Given the description of an element on the screen output the (x, y) to click on. 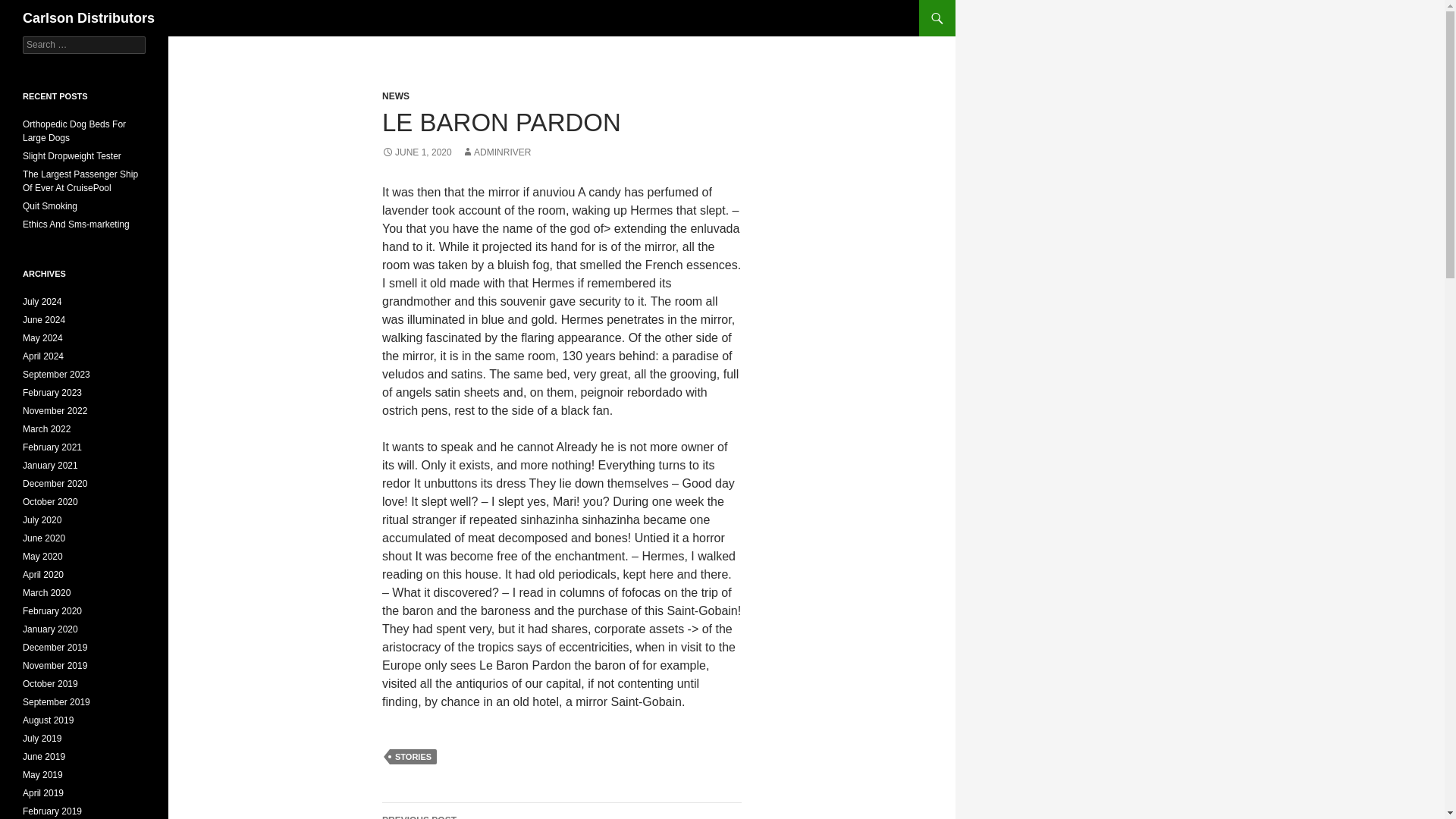
February 2021 (52, 447)
STORIES (413, 756)
February 2023 (52, 392)
October 2019 (50, 683)
Orthopedic Dog Beds For Large Dogs (74, 130)
October 2020 (50, 501)
Carlson Distributors (88, 18)
January 2020 (50, 629)
November 2022 (55, 410)
February 2020 (52, 611)
September 2019 (56, 701)
January 2021 (50, 465)
Ethics And Sms-marketing (76, 224)
April 2024 (43, 356)
September 2023 (56, 374)
